Given the description of an element on the screen output the (x, y) to click on. 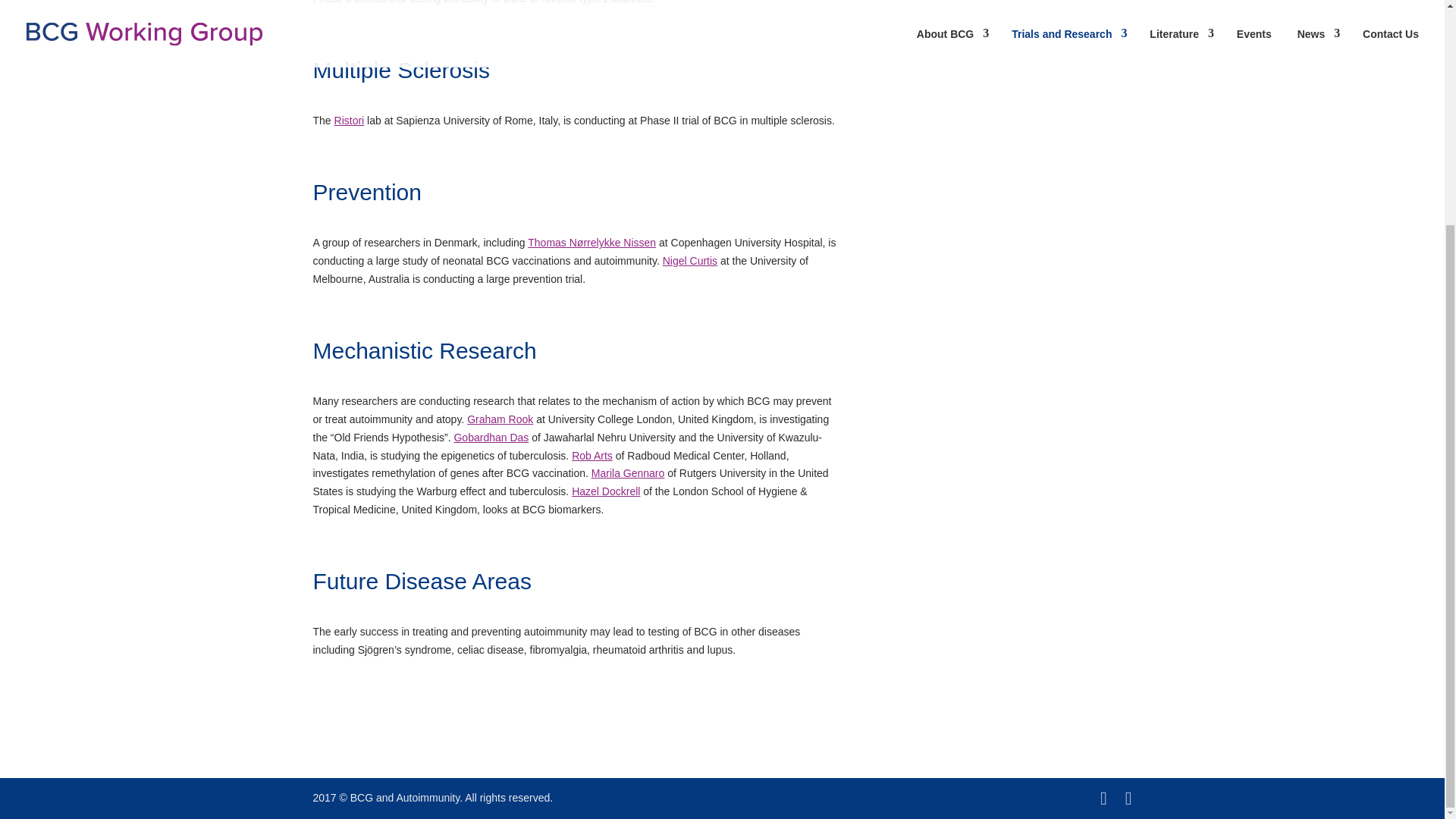
Graham Rook (499, 419)
Gobardhan Das (490, 437)
Hazel Dockrell (606, 491)
Rob Arts (592, 455)
Marila Gennaro (628, 472)
Nigel Curtis (689, 260)
Ristori (349, 120)
